Given the description of an element on the screen output the (x, y) to click on. 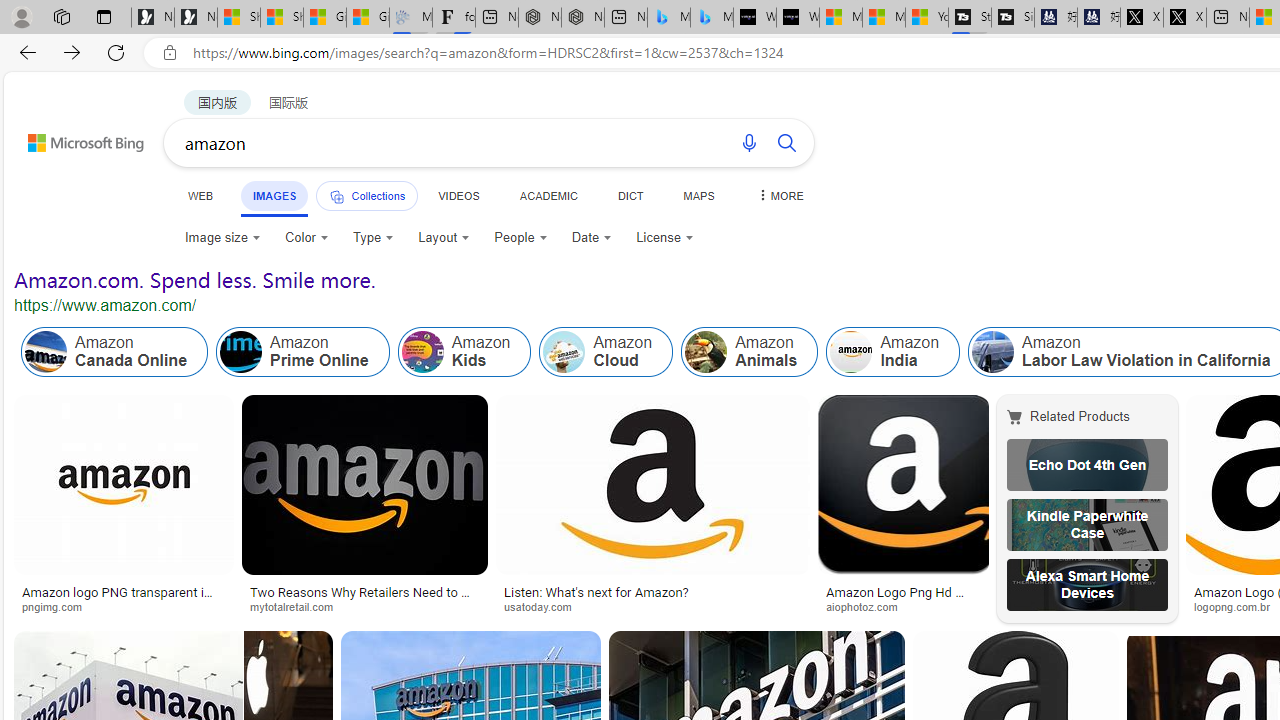
Kindle Paperwhite Case (1087, 524)
Date (591, 237)
Nordace - #1 Japanese Best-Seller - Siena Smart Backpack (582, 17)
usatoday.com (653, 606)
Two Reasons Why Retailers Need to Leverage Amazon (364, 598)
VIDEOS (458, 195)
Image size (222, 237)
X (1184, 17)
Class: b_pri_nav_svg (336, 196)
ACADEMIC (548, 195)
Amazon India (893, 351)
Color (305, 237)
